Given the description of an element on the screen output the (x, y) to click on. 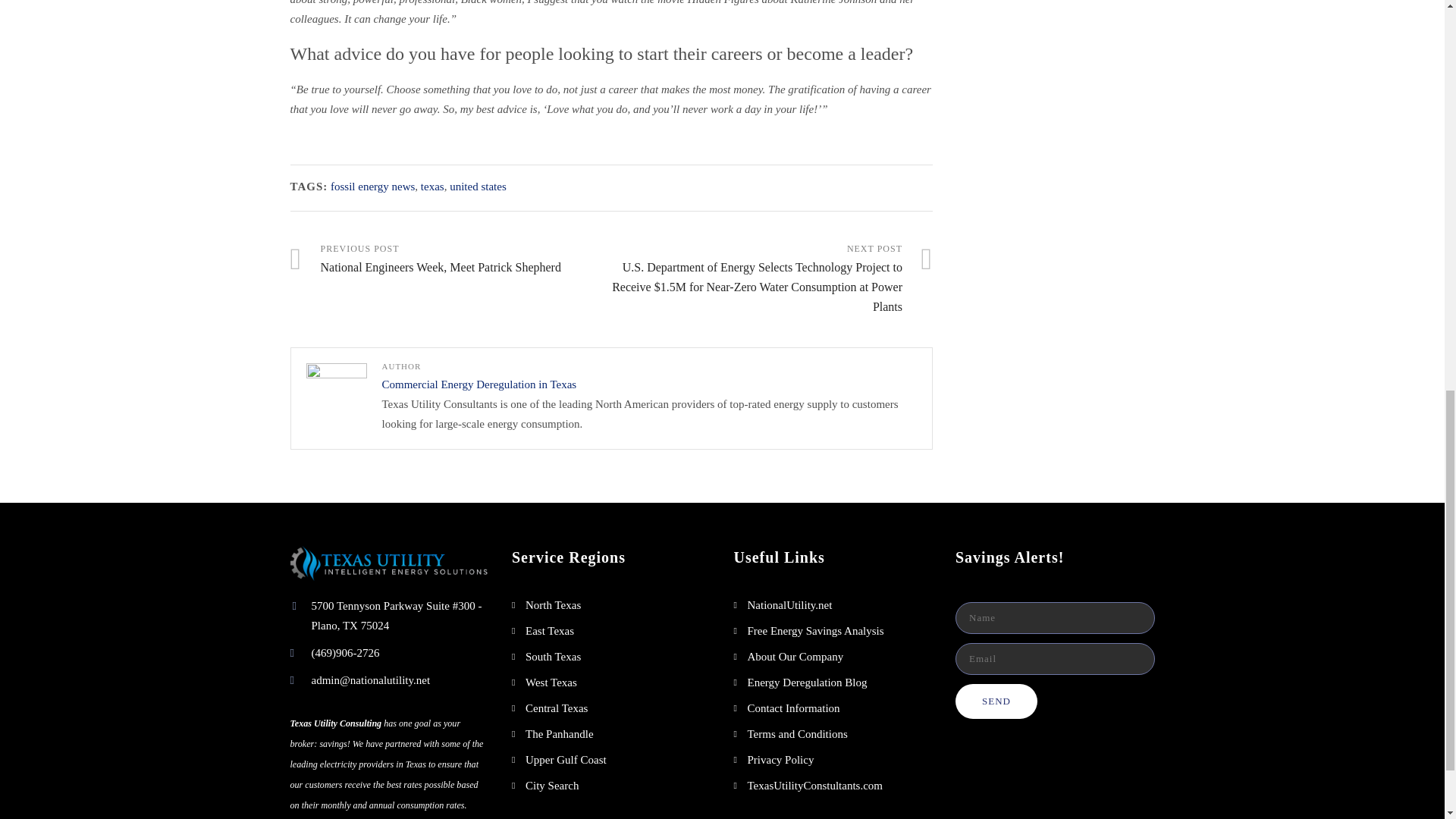
South Texas (552, 656)
North Texas (450, 259)
Upper Gulf Coast (552, 604)
National Engineers Week, Meet Patrick Shepherd (566, 759)
Commercial Energy Deregulation in Texas (450, 259)
united states (478, 384)
City Search (477, 186)
The Panhandle (551, 785)
texas (559, 734)
